Given the description of an element on the screen output the (x, y) to click on. 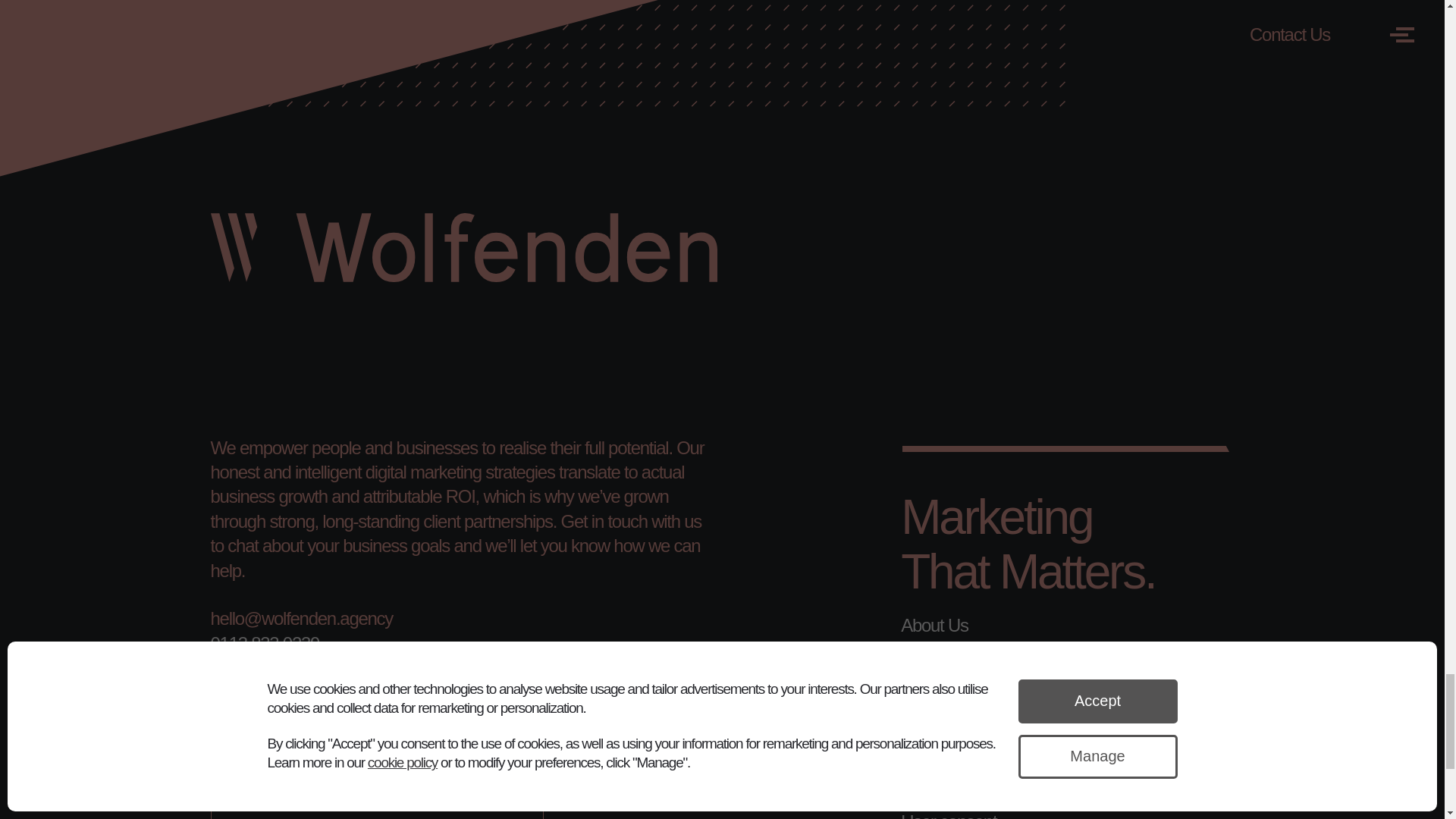
About Us (934, 625)
Services (931, 650)
0113 833 0239 (265, 643)
